Given the description of an element on the screen output the (x, y) to click on. 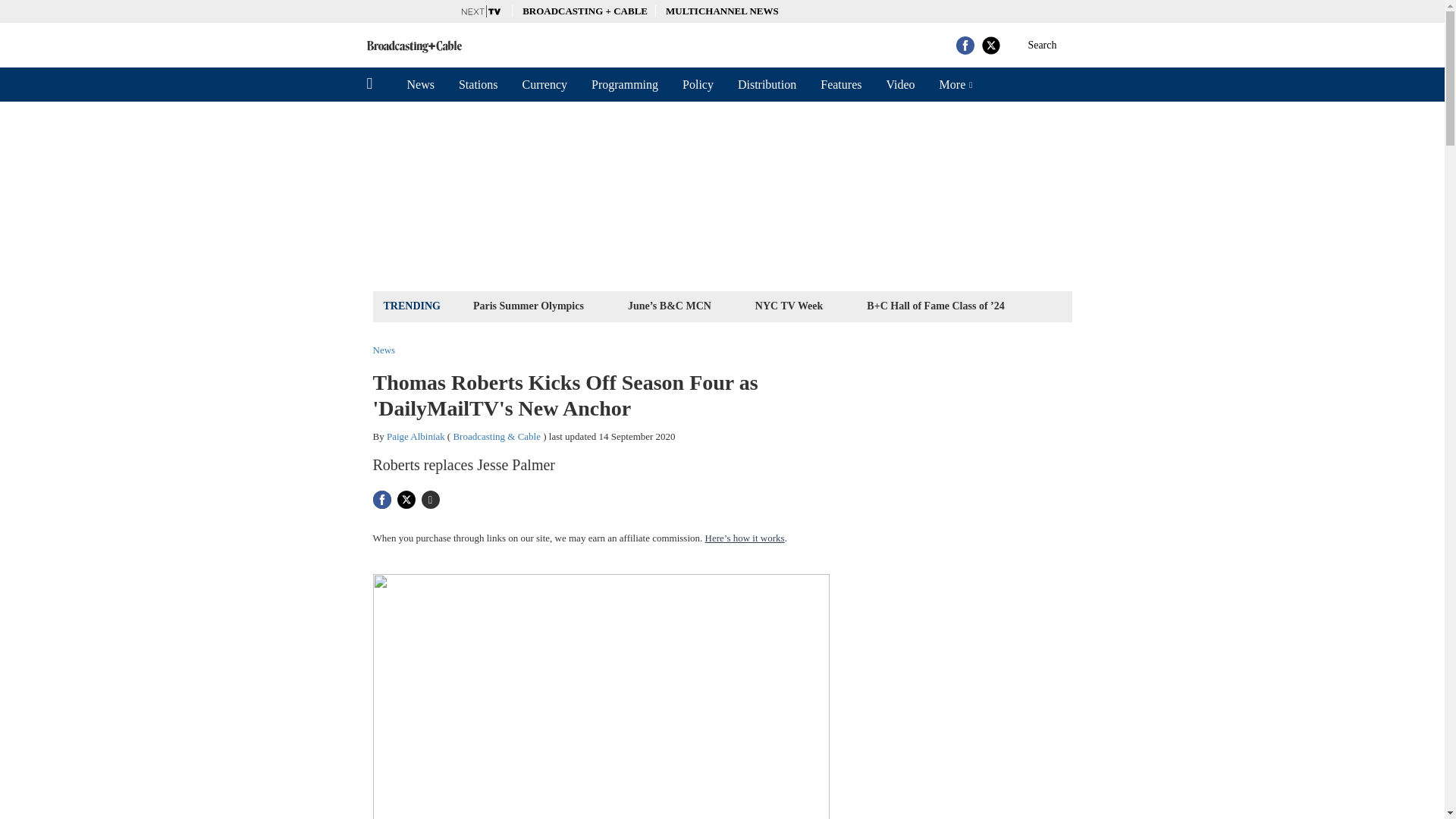
News (419, 84)
Distribution (766, 84)
MULTICHANNEL NEWS (721, 10)
Paris Summer Olympics (528, 305)
Stations (478, 84)
Currency (544, 84)
Policy (697, 84)
Features (840, 84)
NYC TV Week (788, 305)
Video (899, 84)
News (384, 349)
Programming (624, 84)
Paige Albiniak (416, 436)
